Given the description of an element on the screen output the (x, y) to click on. 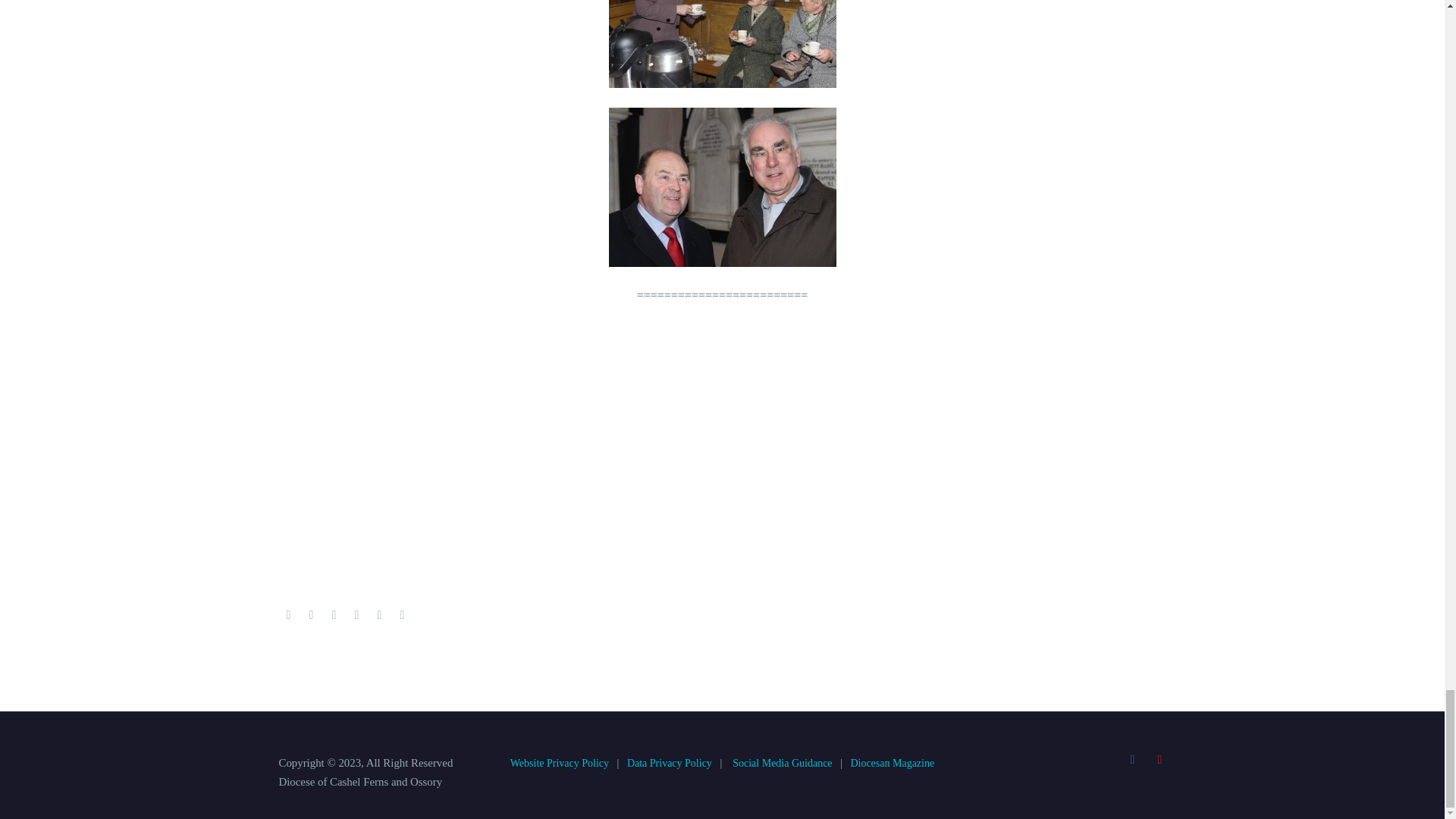
Twitter (310, 614)
Facebook (288, 614)
Pinterest (333, 614)
Reddit (401, 614)
LinkedIn (378, 614)
Tumblr (356, 614)
